Given the description of an element on the screen output the (x, y) to click on. 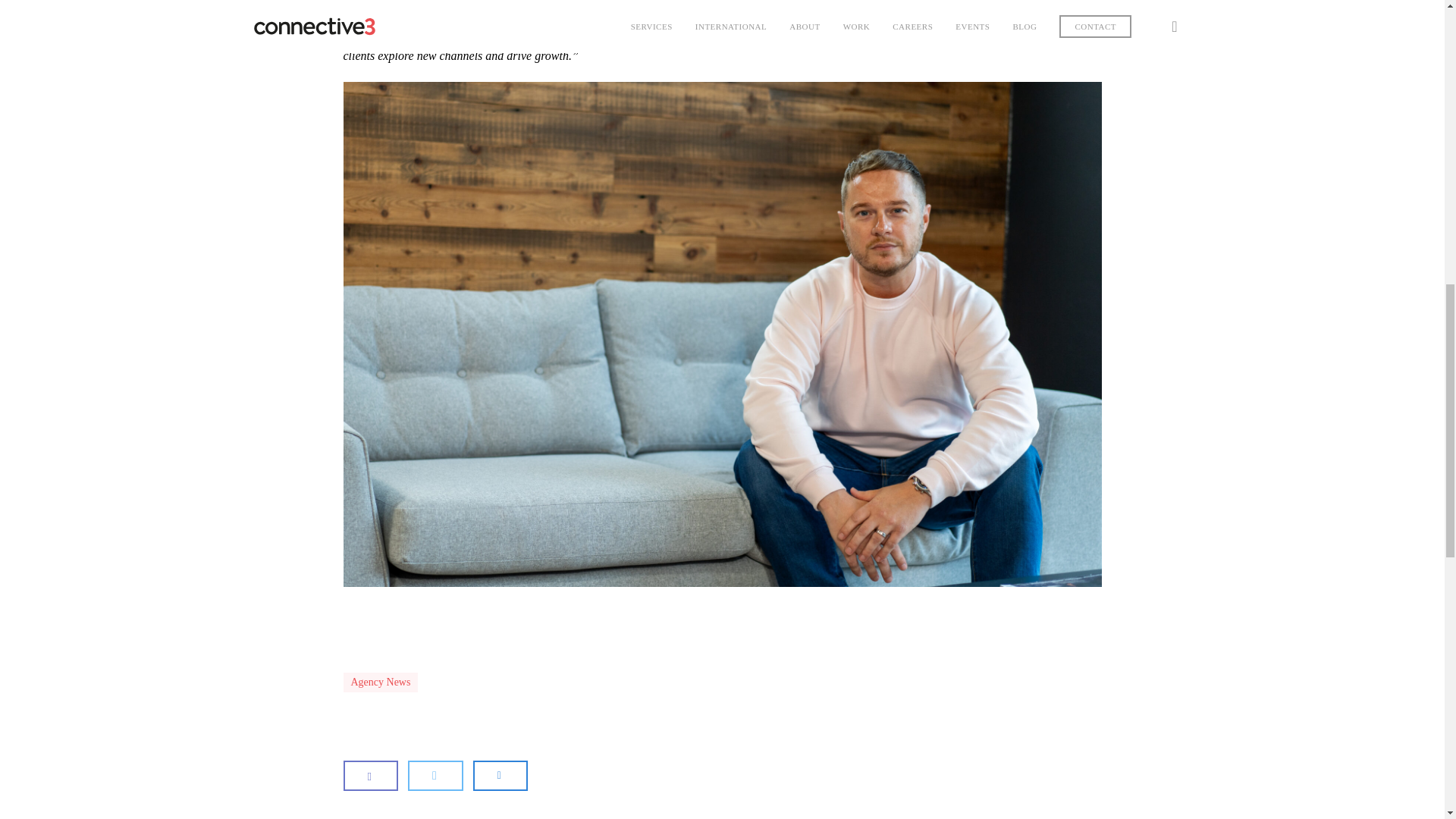
Share this (500, 775)
Share this (369, 775)
Share this (435, 775)
